Given the description of an element on the screen output the (x, y) to click on. 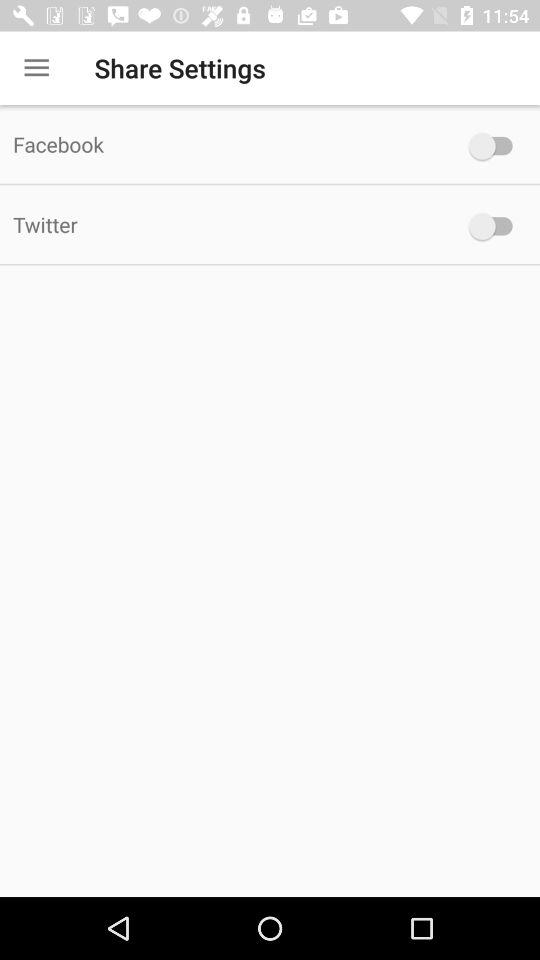
select icon above twitter item (225, 144)
